Given the description of an element on the screen output the (x, y) to click on. 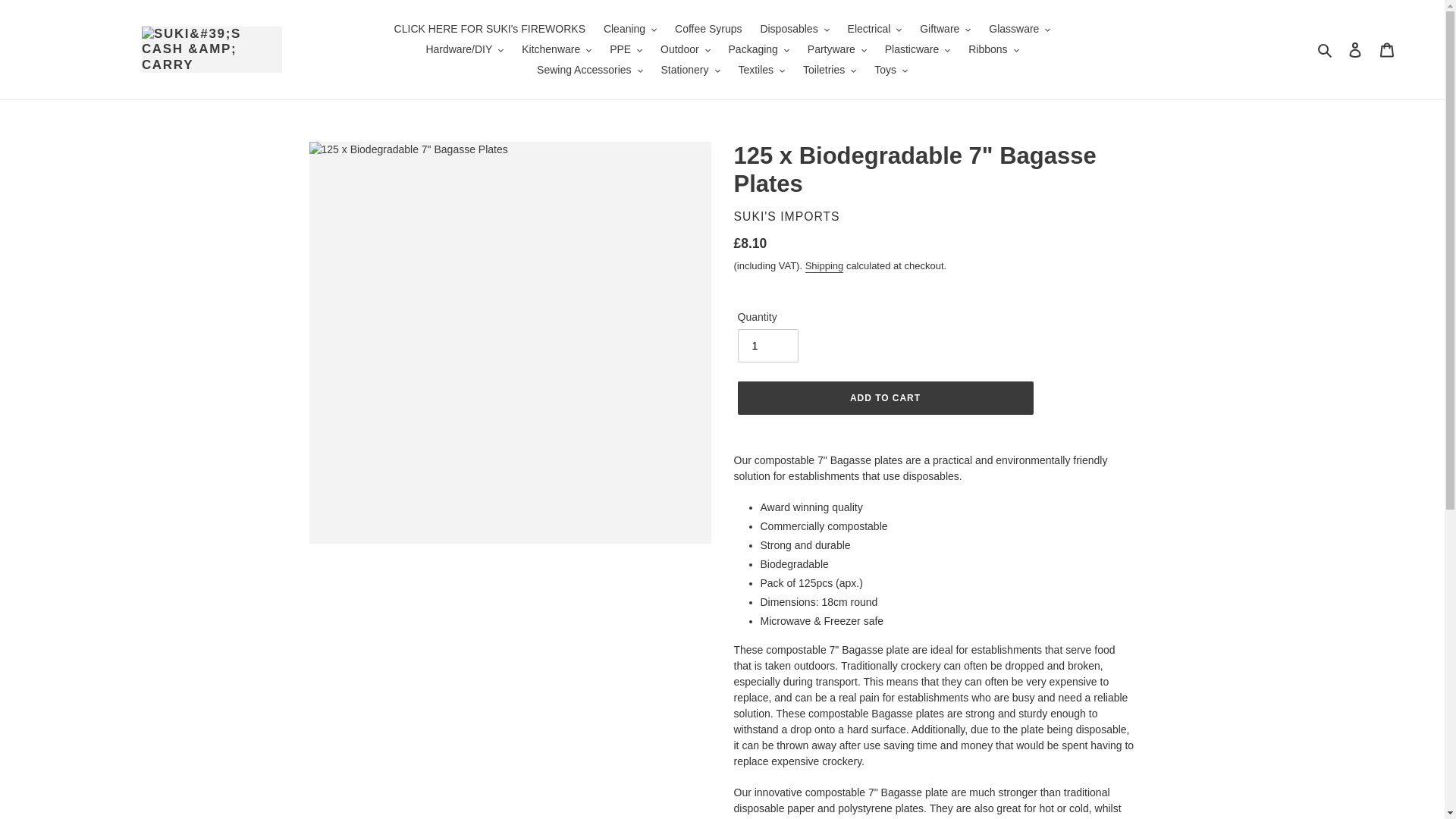
CLICK HERE FOR SUKI's FIREWORKS (489, 28)
1 (766, 345)
Disposables (793, 28)
Coffee Syrups (707, 28)
Cleaning (629, 28)
